Given the description of an element on the screen output the (x, y) to click on. 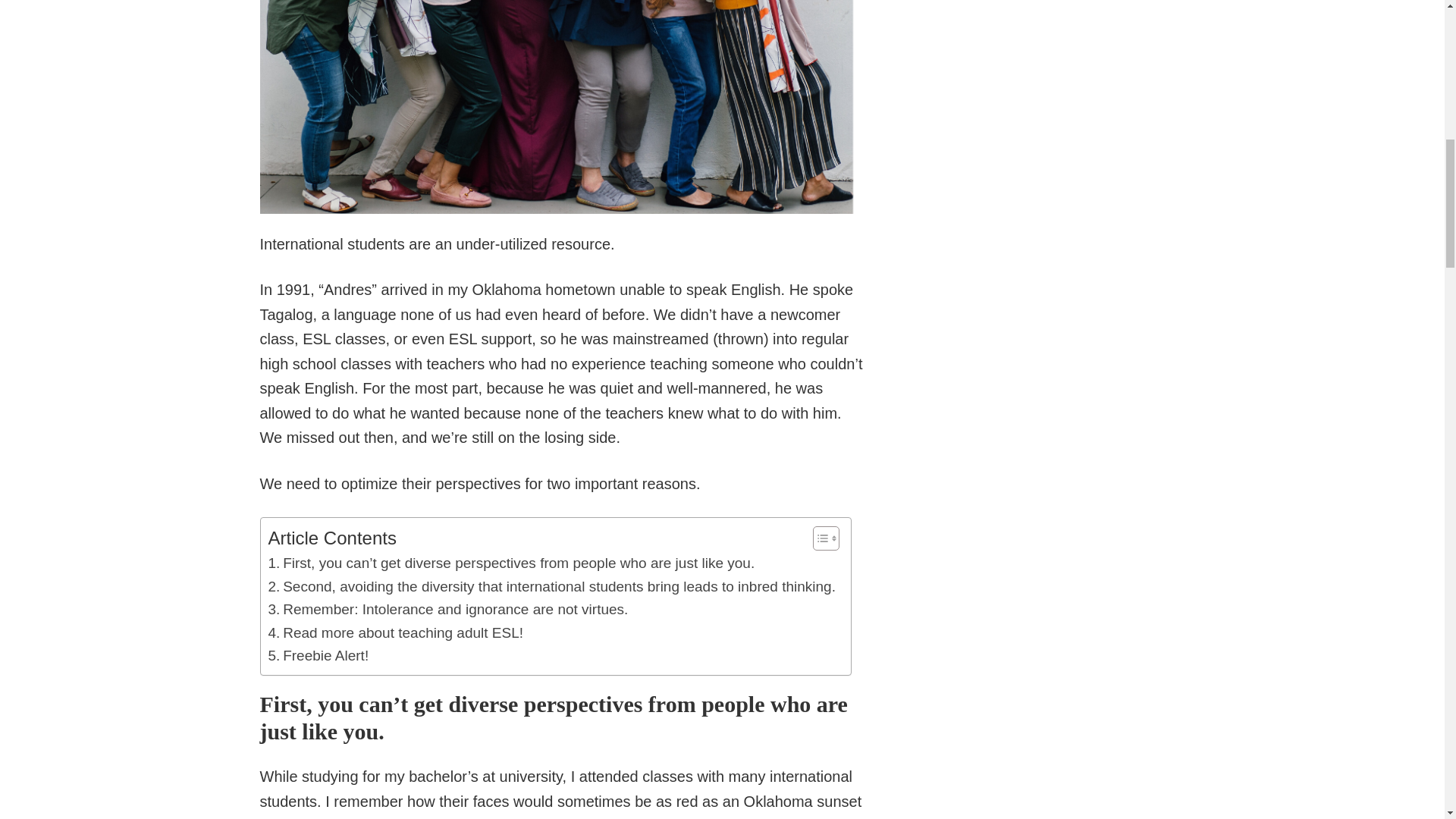
Remember: Intolerance and ignorance are not virtues. (447, 609)
Remember:  Intolerance and ignorance are not virtues. (447, 609)
Freebie Alert! (318, 655)
Freebie Alert! (318, 655)
Read more about teaching adult ESL! (395, 632)
Read more about teaching adult ESL! (395, 632)
